Given the description of an element on the screen output the (x, y) to click on. 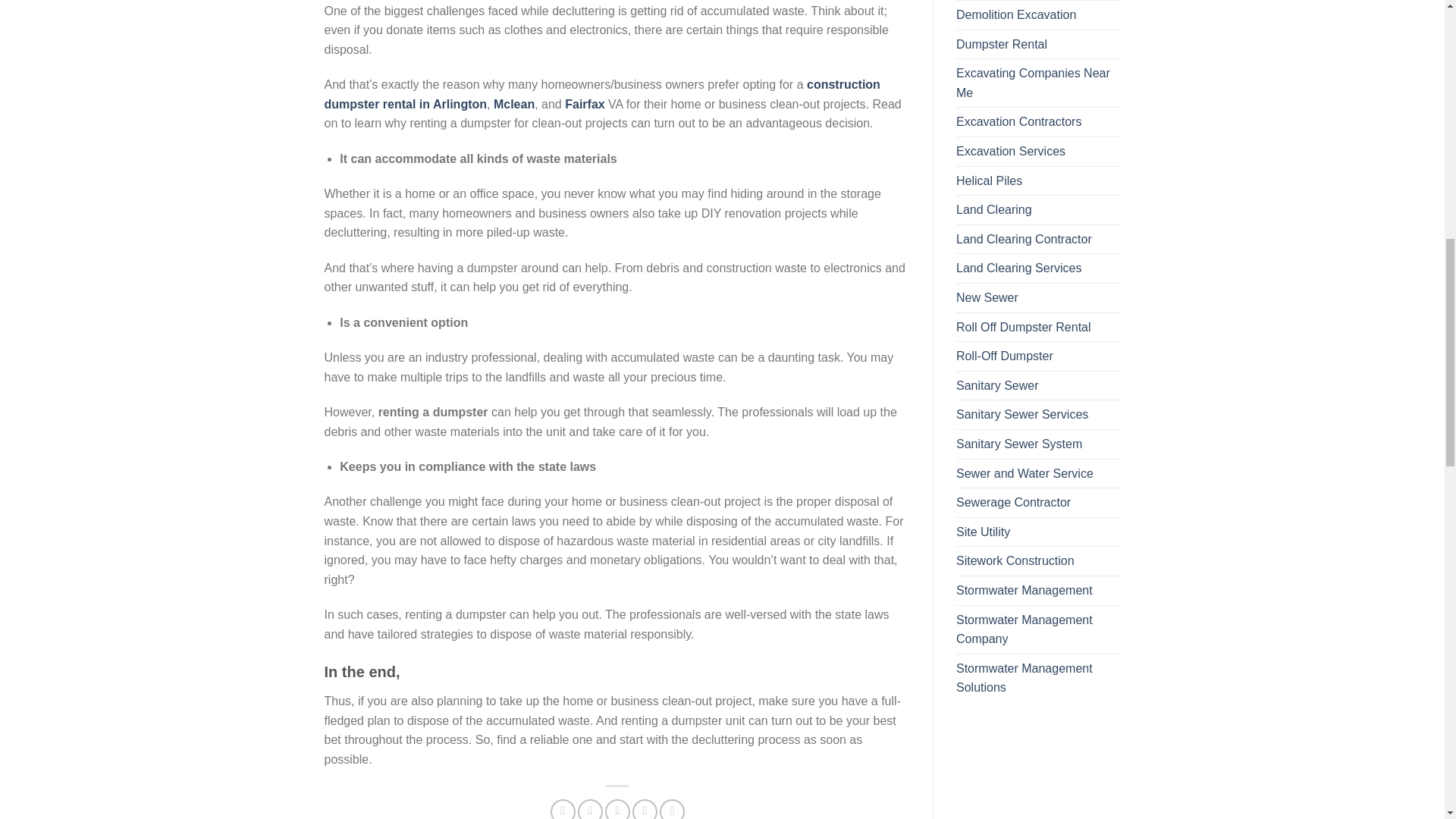
Share on LinkedIn (671, 809)
Share on Facebook (562, 809)
Mclean (513, 103)
construction dumpster rental in Arlington (602, 93)
Email to a Friend (617, 809)
Pin on Pinterest (644, 809)
Share on Twitter (590, 809)
Fairfax (584, 103)
